Given the description of an element on the screen output the (x, y) to click on. 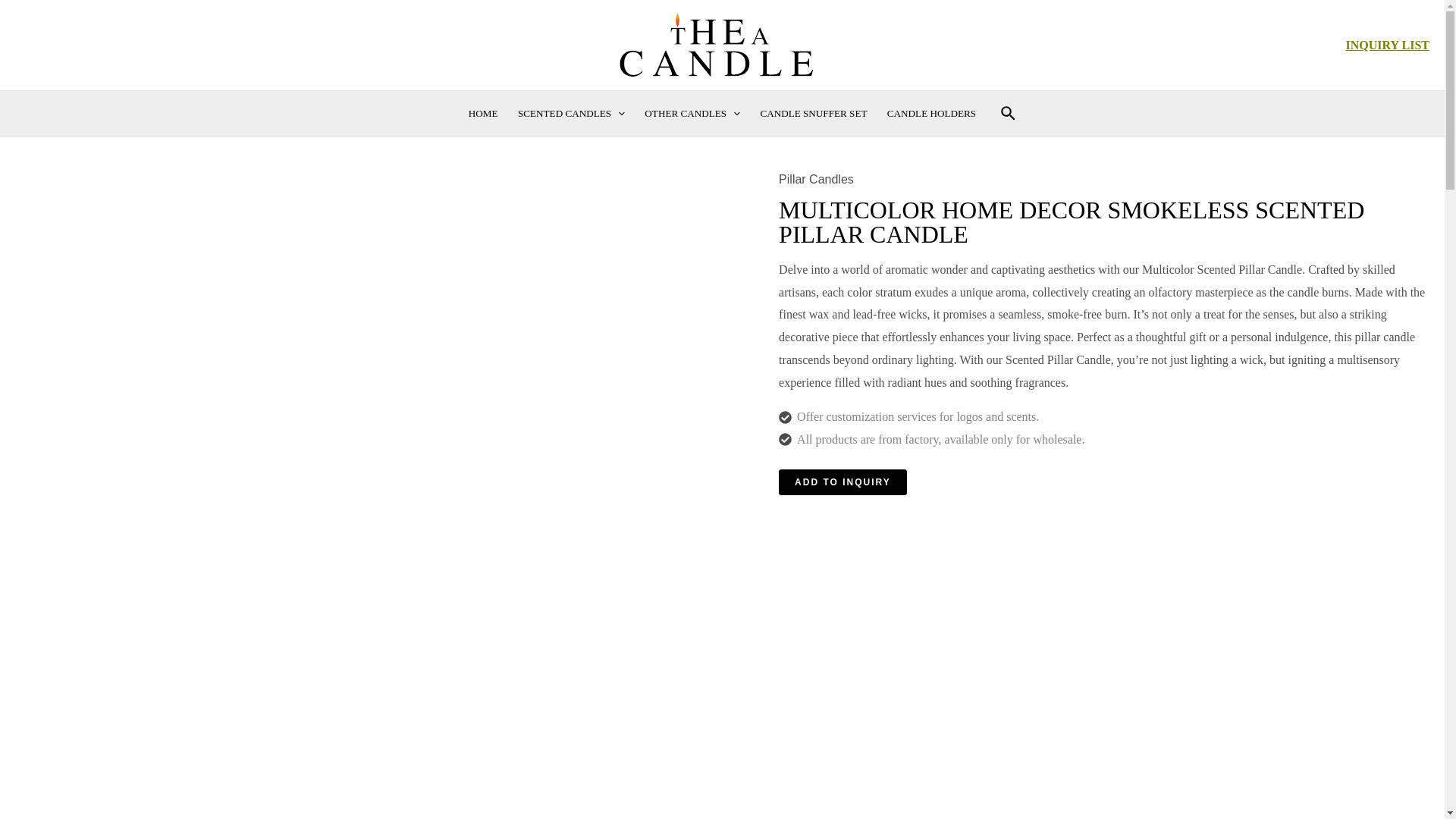
OTHER CANDLES (691, 113)
CANDLE HOLDERS (932, 113)
HOME (483, 113)
INQUIRY LIST (1387, 44)
CANDLE SNUFFER SET (812, 113)
SCENTED CANDLES (571, 113)
